Given the description of an element on the screen output the (x, y) to click on. 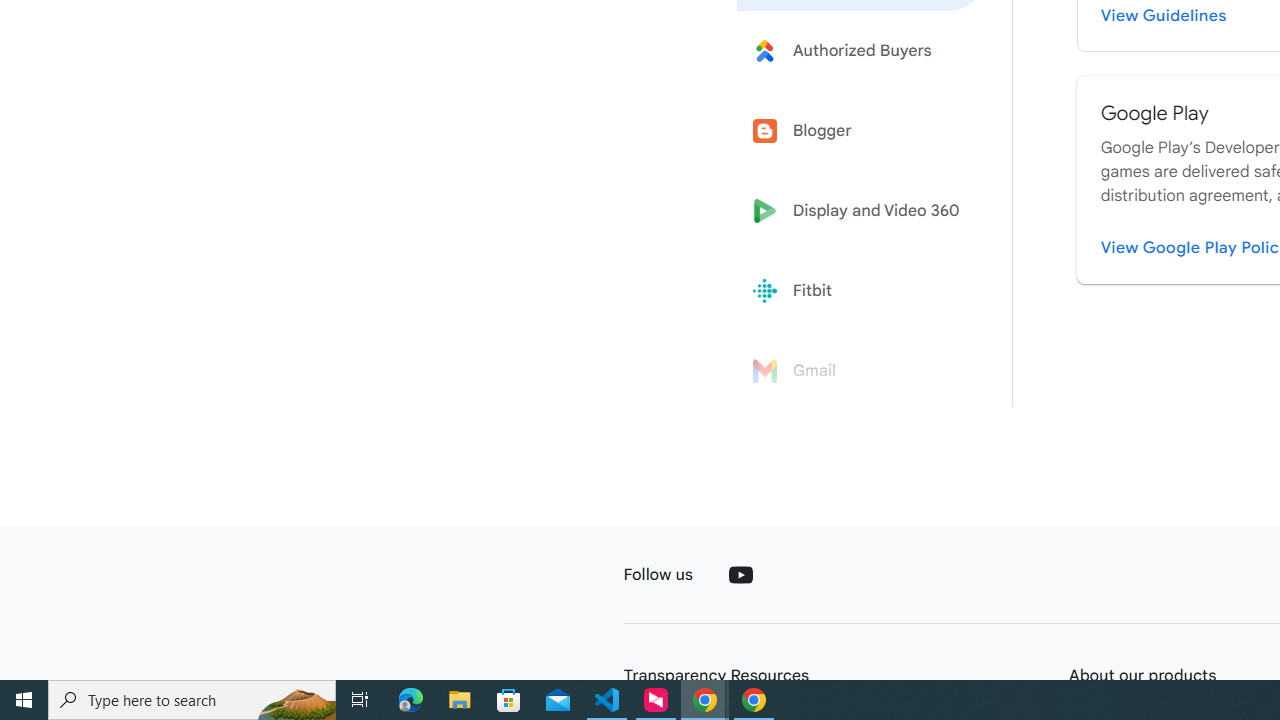
Blogger (862, 130)
Gmail (862, 371)
Learn more about Authorized Buyers (862, 50)
YouTube (740, 574)
Display and Video 360 (862, 211)
Blogger (862, 130)
Display and Video 360 (862, 211)
Gmail (862, 371)
Fitbit (862, 291)
Fitbit (862, 291)
Learn more about Authorized Buyers (862, 50)
